Given the description of an element on the screen output the (x, y) to click on. 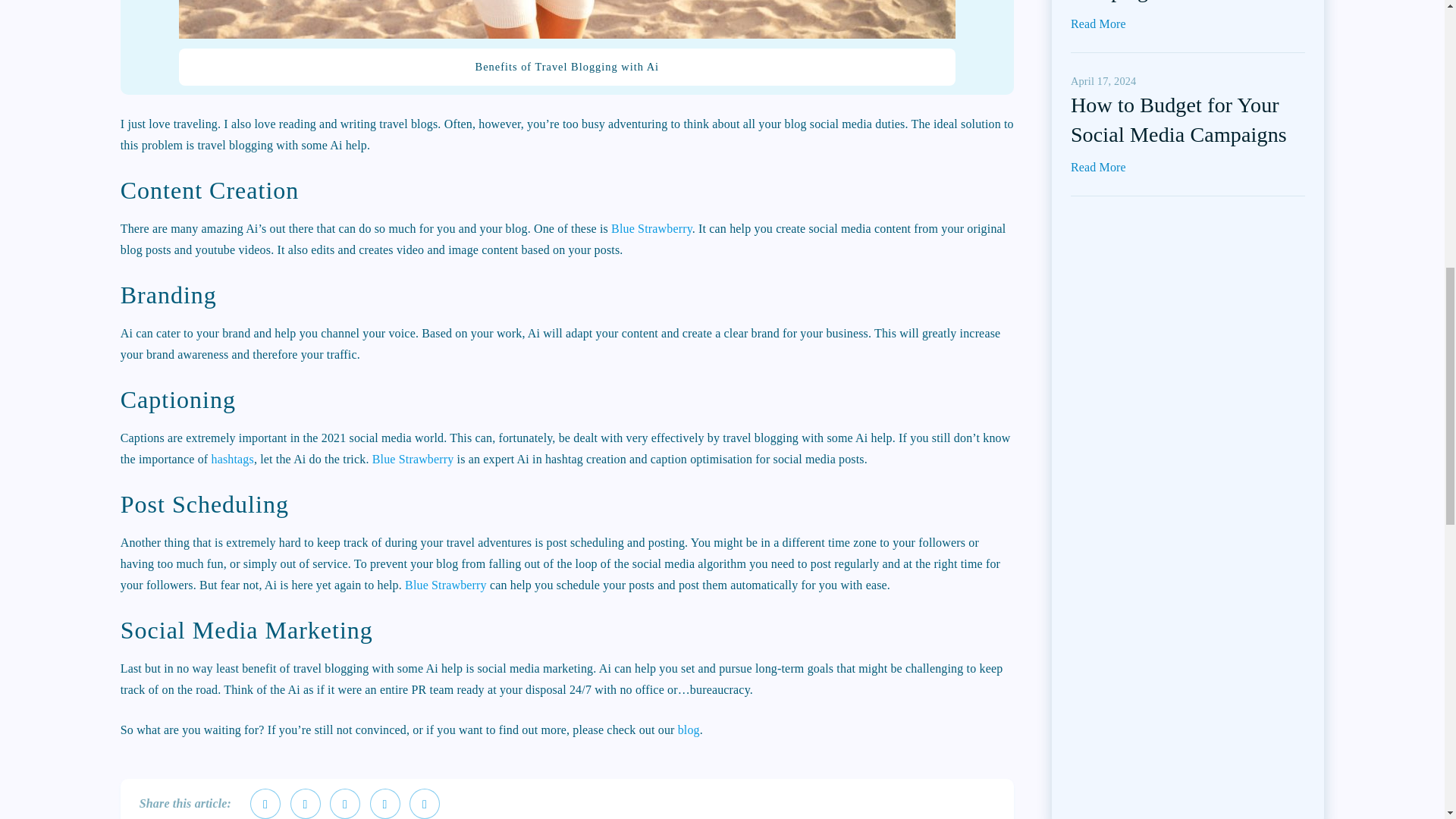
Blue Strawberry (445, 584)
Blue Strawberry (652, 228)
How to Budget for Your Social Media Campaigns (1178, 118)
Read More (1097, 166)
Blue Strawberry (413, 459)
blog (689, 729)
hashtags (232, 459)
Read More (1097, 22)
Steady Social Media Campaigns (1159, 1)
